Given the description of an element on the screen output the (x, y) to click on. 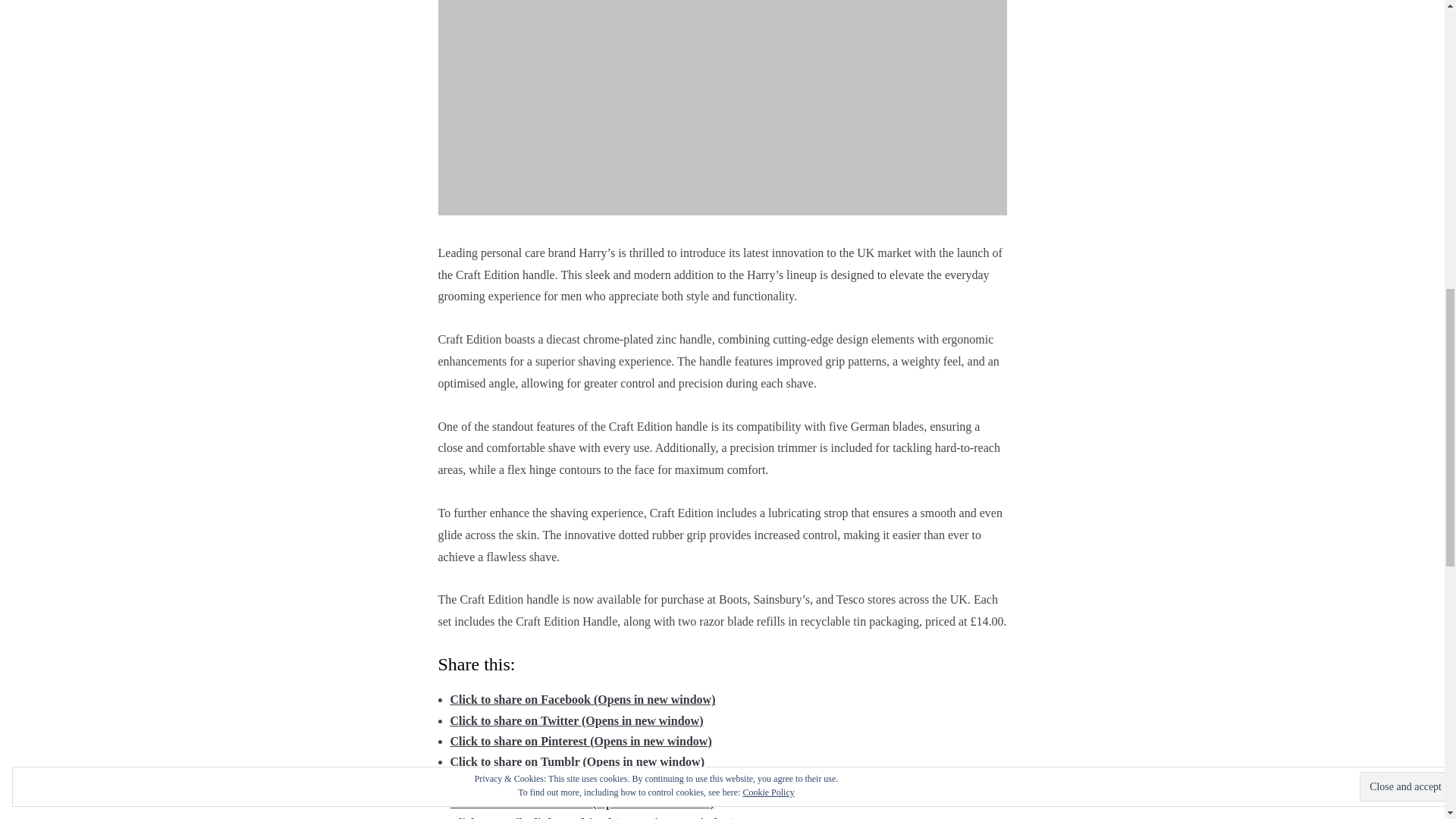
Click to share on Twitter (576, 720)
Click to share on Pinterest (580, 740)
Click to share on Facebook (582, 698)
Click to share on Reddit (574, 781)
Click to share on LinkedIn (581, 802)
Click to share on Tumblr (576, 761)
